Given the description of an element on the screen output the (x, y) to click on. 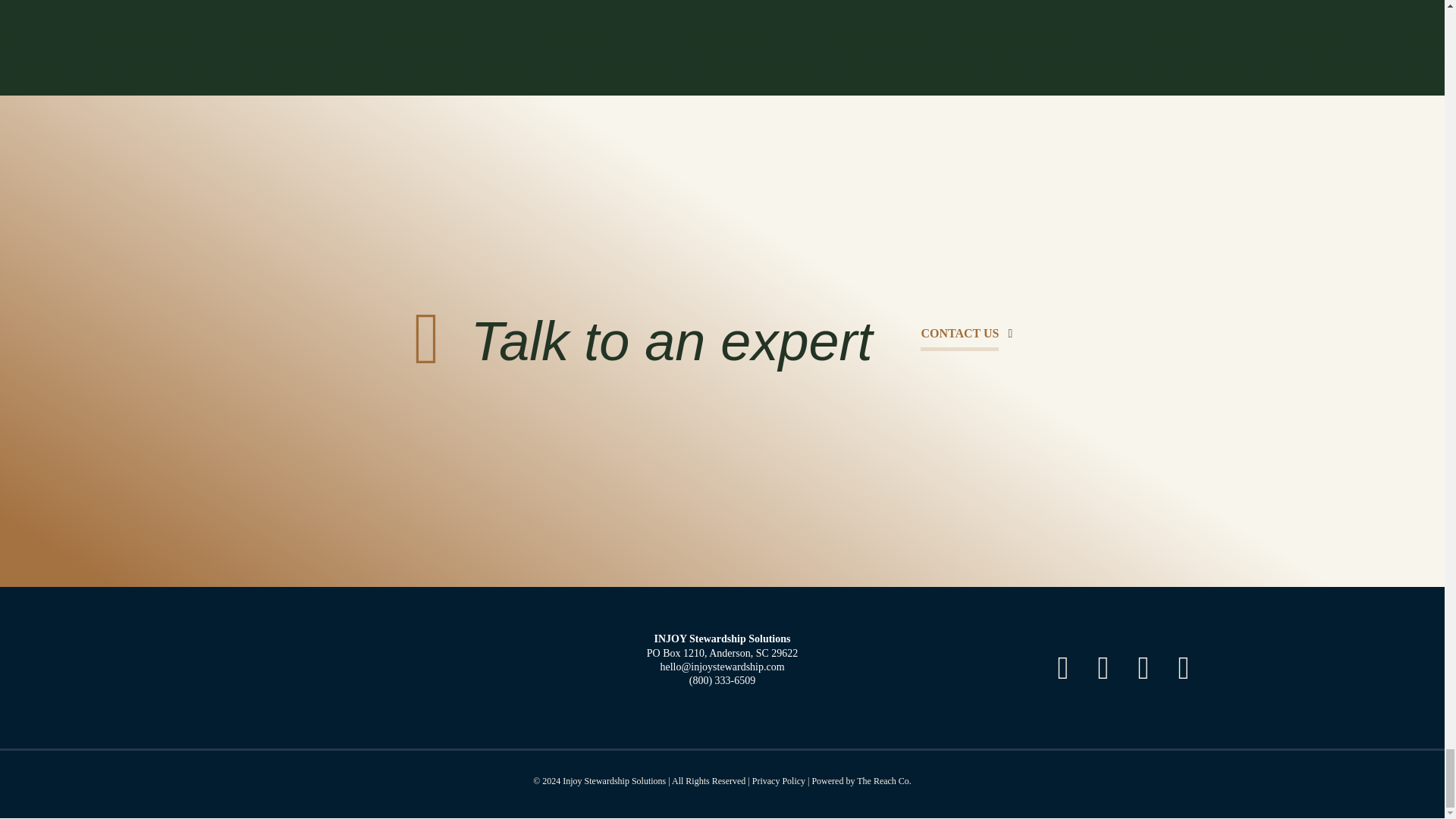
Privacy Policy (778, 780)
injoy-white-logo (320, 667)
CONTACT US (966, 333)
